Given the description of an element on the screen output the (x, y) to click on. 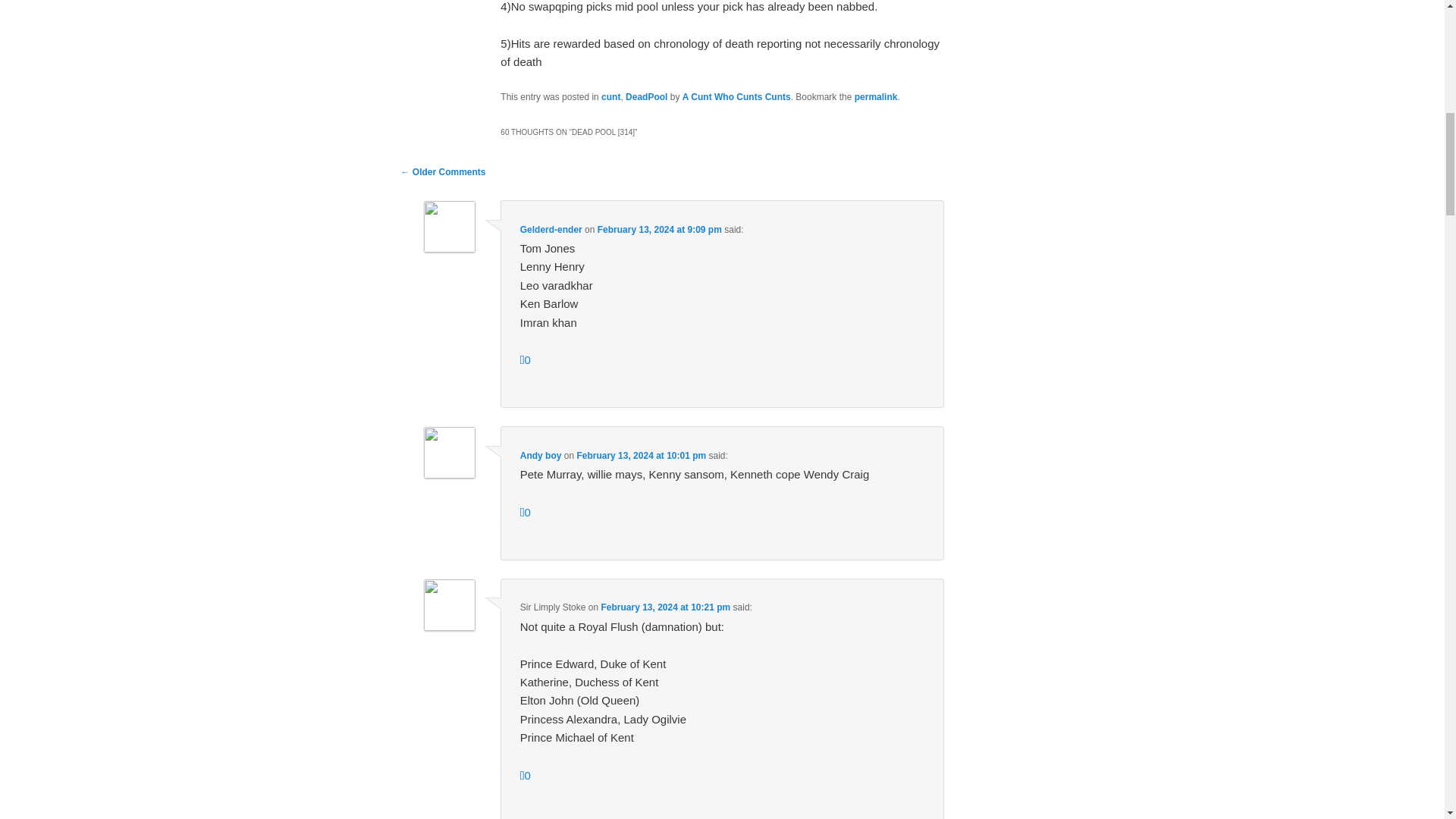
February 13, 2024 at 9:09 pm (659, 229)
February 13, 2024 at 10:01 pm (641, 455)
Andy boy (540, 455)
A Cunt Who Cunts Cunts (736, 96)
DeadPool (646, 96)
Gelderd-ender (550, 229)
February 13, 2024 at 10:21 pm (664, 606)
cunt (610, 96)
permalink (876, 96)
